Given the description of an element on the screen output the (x, y) to click on. 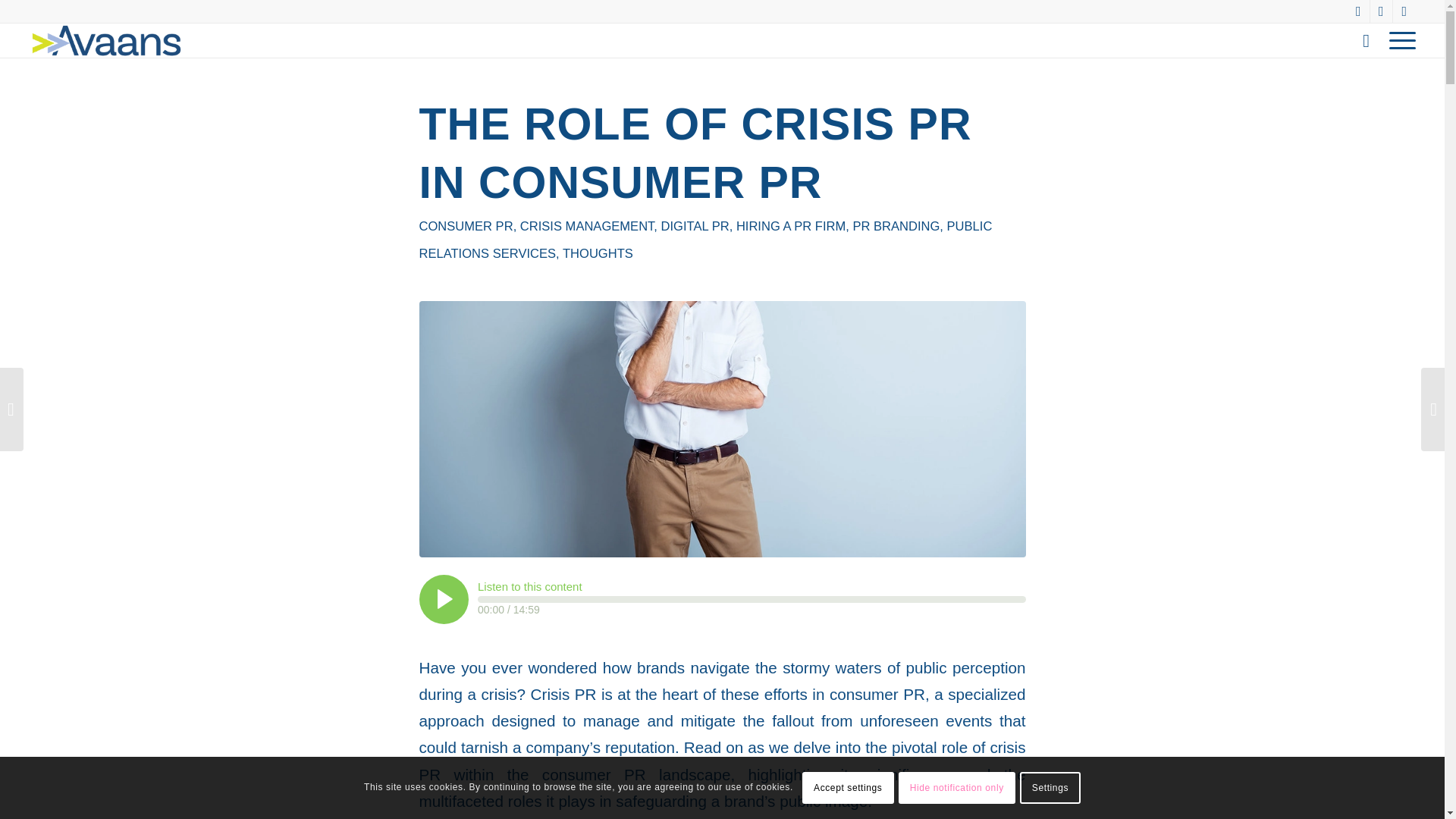
CONSUMER PR (465, 226)
LinkedIn (1359, 11)
CRISIS MANAGEMENT (586, 226)
Youtube (1404, 11)
X (1380, 11)
HIRING A PR FIRM (790, 226)
DIGITAL PR (695, 226)
PUBLIC RELATIONS SERVICES (705, 239)
THOUGHTS (597, 253)
PR BRANDING (895, 226)
